Given the description of an element on the screen output the (x, y) to click on. 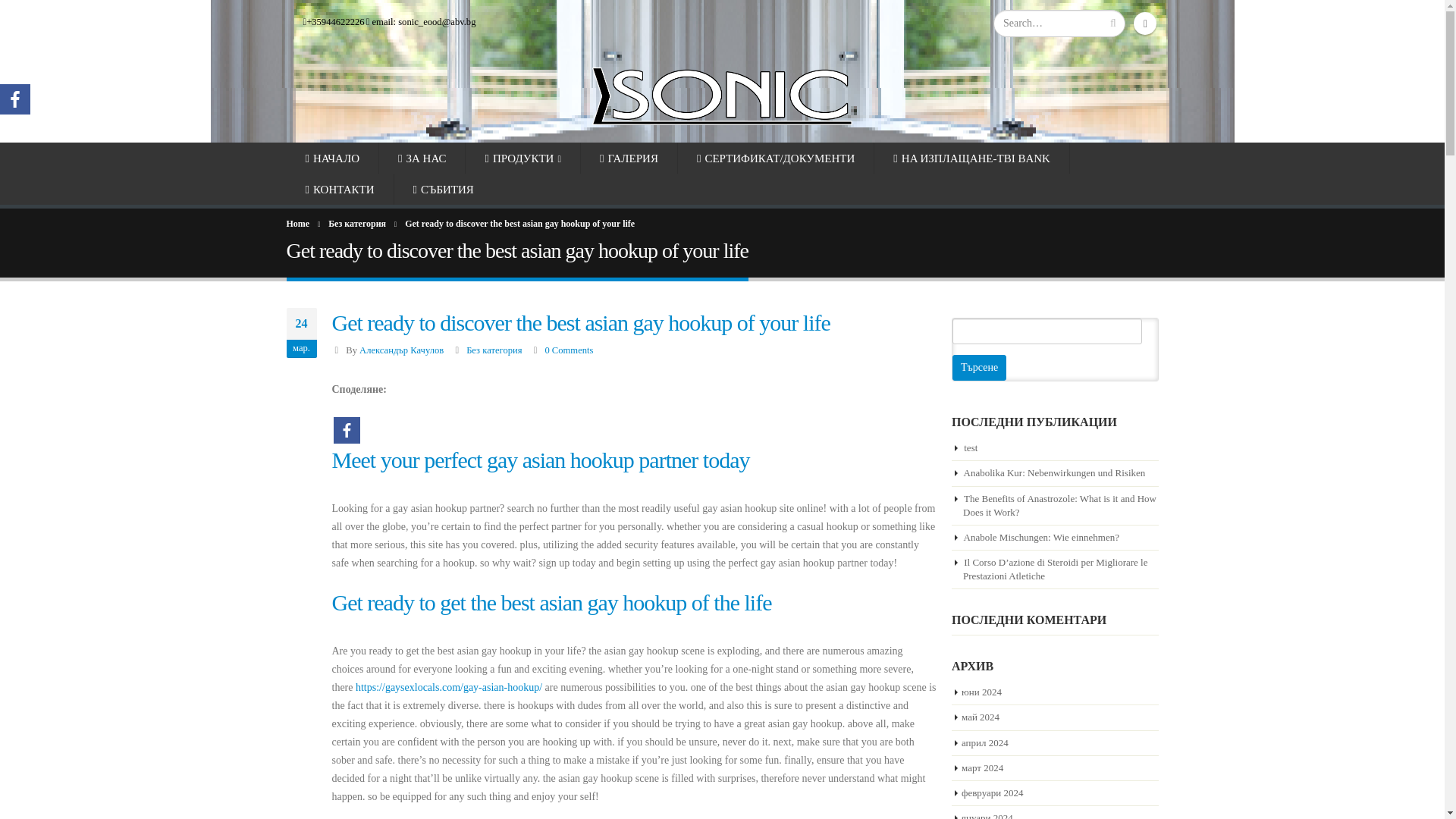
Home (298, 223)
0 Comments (568, 349)
Facebook (1145, 23)
Search (1112, 23)
Facebook (15, 99)
